Given the description of an element on the screen output the (x, y) to click on. 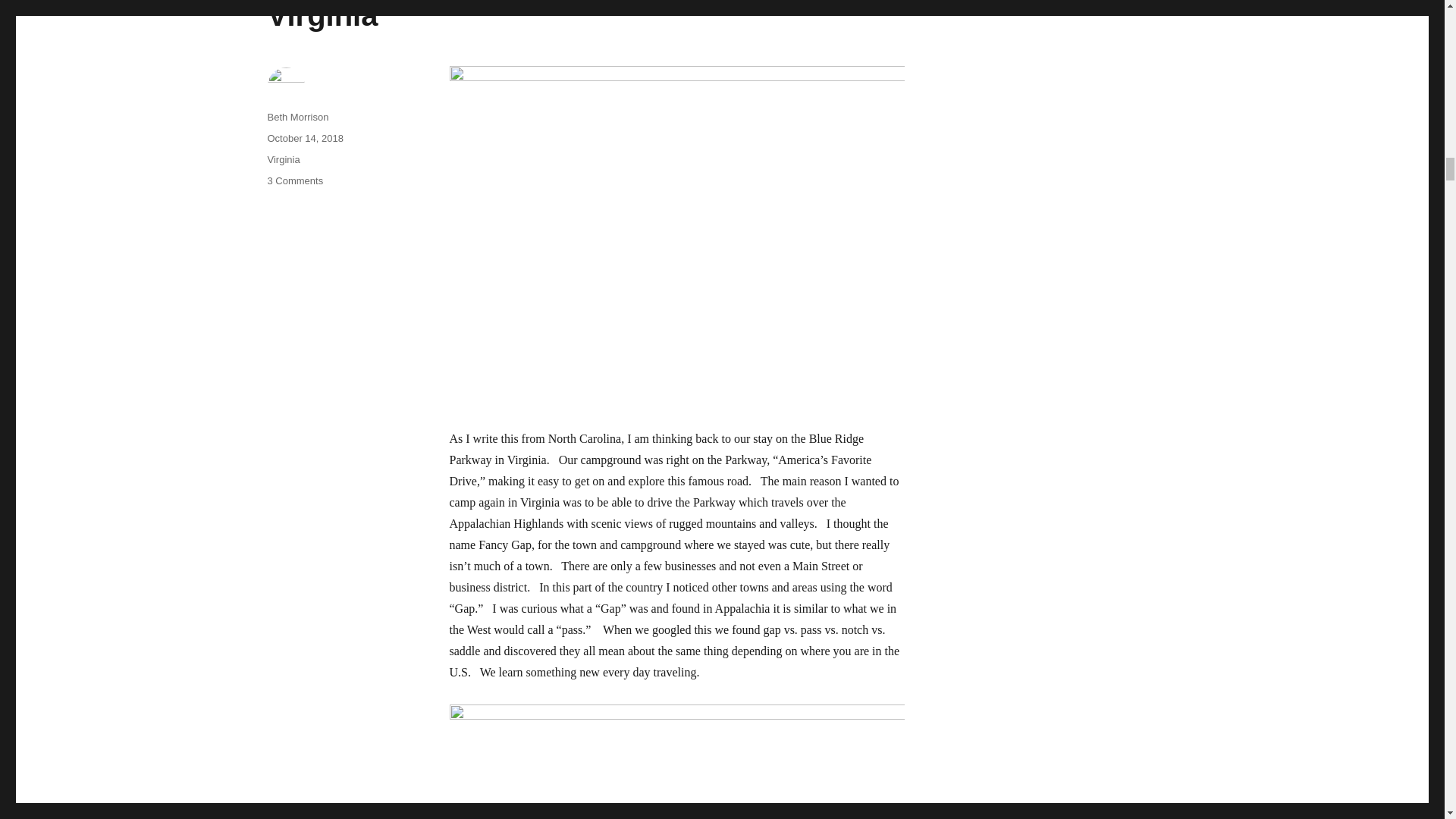
Exploring the Blue Ridge Parkway in Virginia (530, 15)
Beth Morrison (297, 116)
Virginia (294, 180)
October 14, 2018 (282, 159)
